Given the description of an element on the screen output the (x, y) to click on. 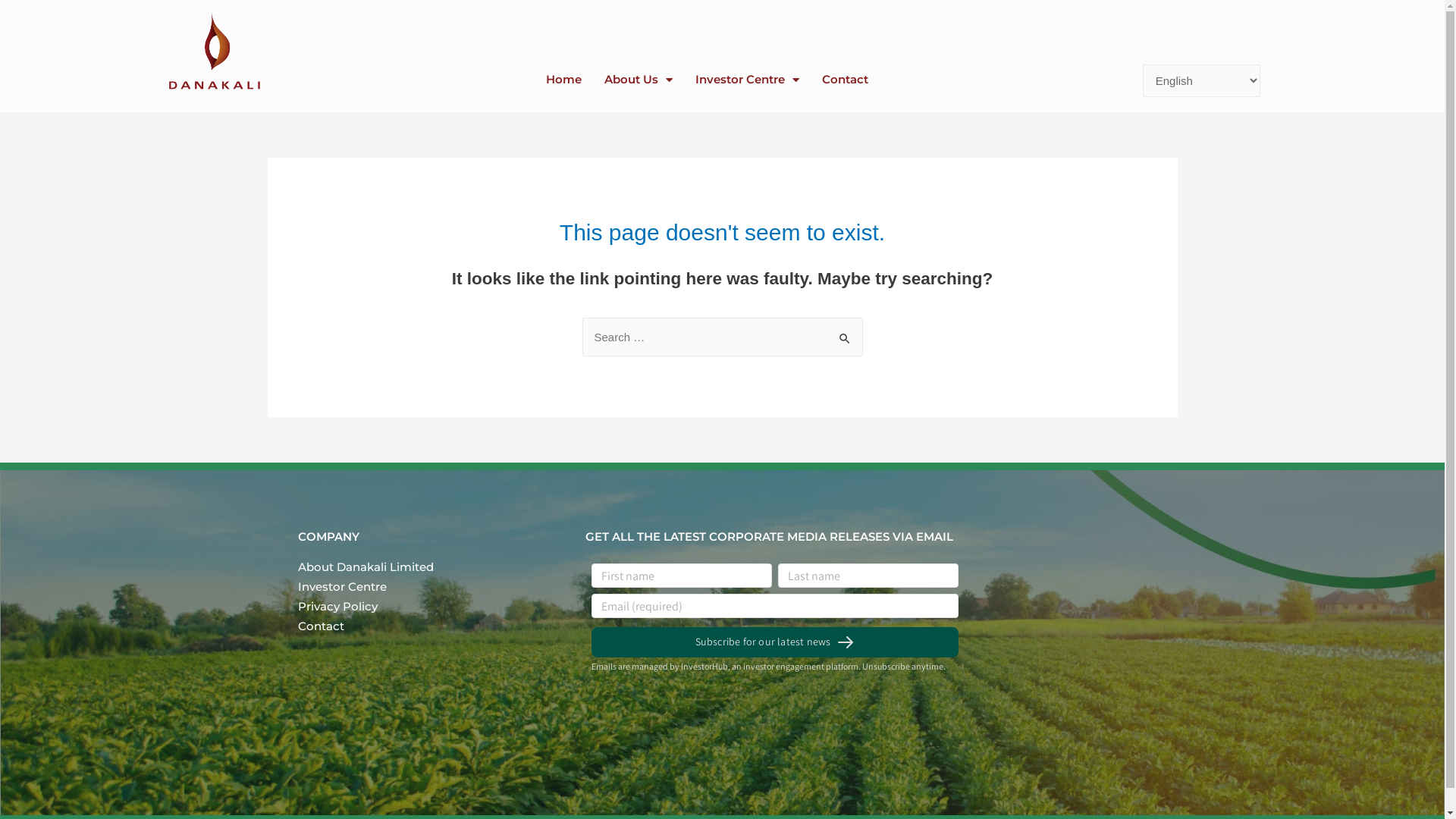
Investor Centre Element type: text (426, 586)
Home Element type: text (563, 79)
Search Element type: text (845, 332)
Contact Element type: text (844, 79)
Investor Centre Element type: text (747, 79)
Privacy Policy Element type: text (426, 606)
Contact Element type: text (426, 626)
About Us Element type: text (638, 79)
About Danakali Limited Element type: text (426, 567)
